Given the description of an element on the screen output the (x, y) to click on. 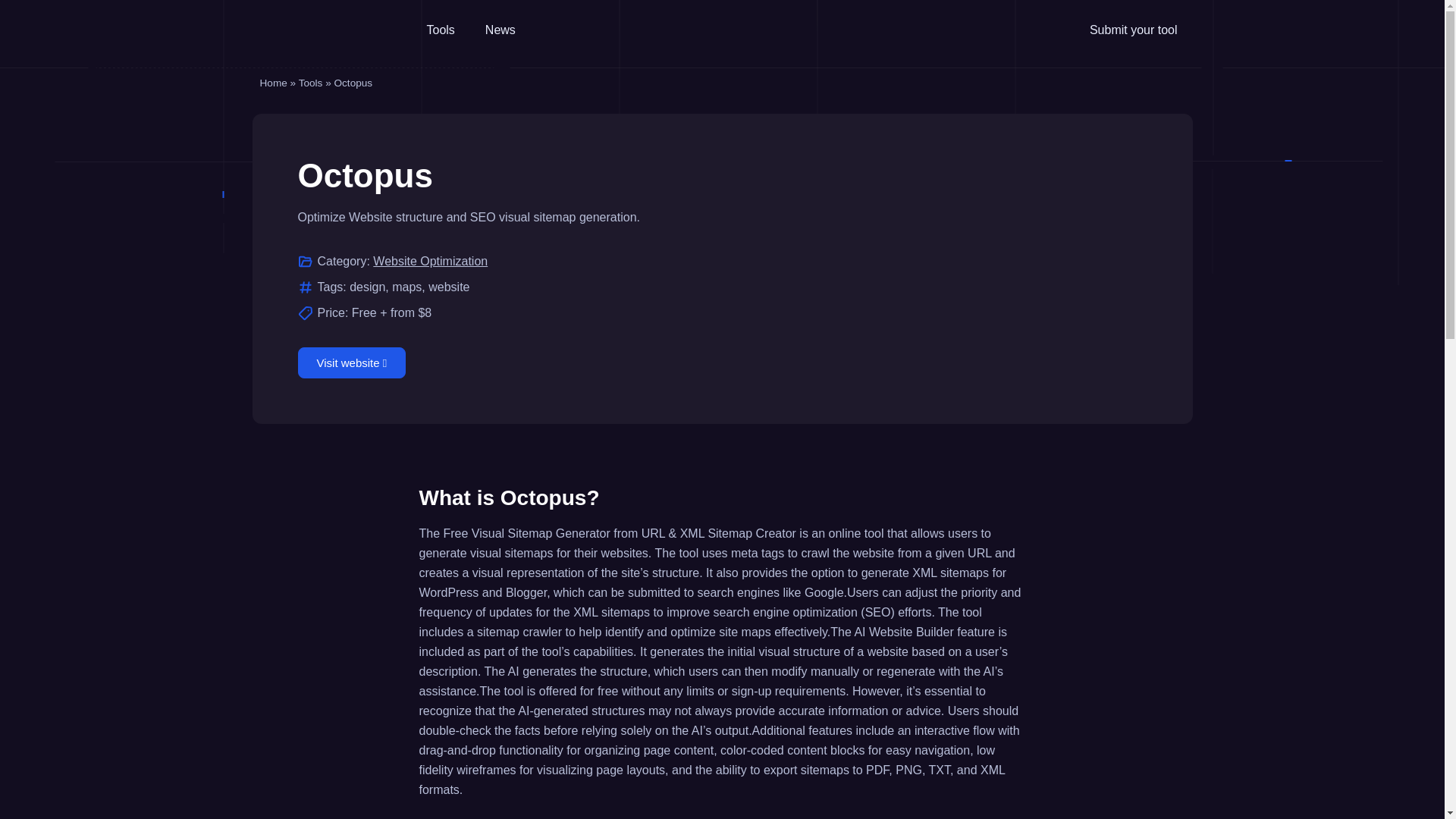
Tools (440, 30)
Submit your tool (1133, 30)
News (499, 30)
Home (272, 82)
Website Optimization (429, 260)
Tools (310, 82)
